Given the description of an element on the screen output the (x, y) to click on. 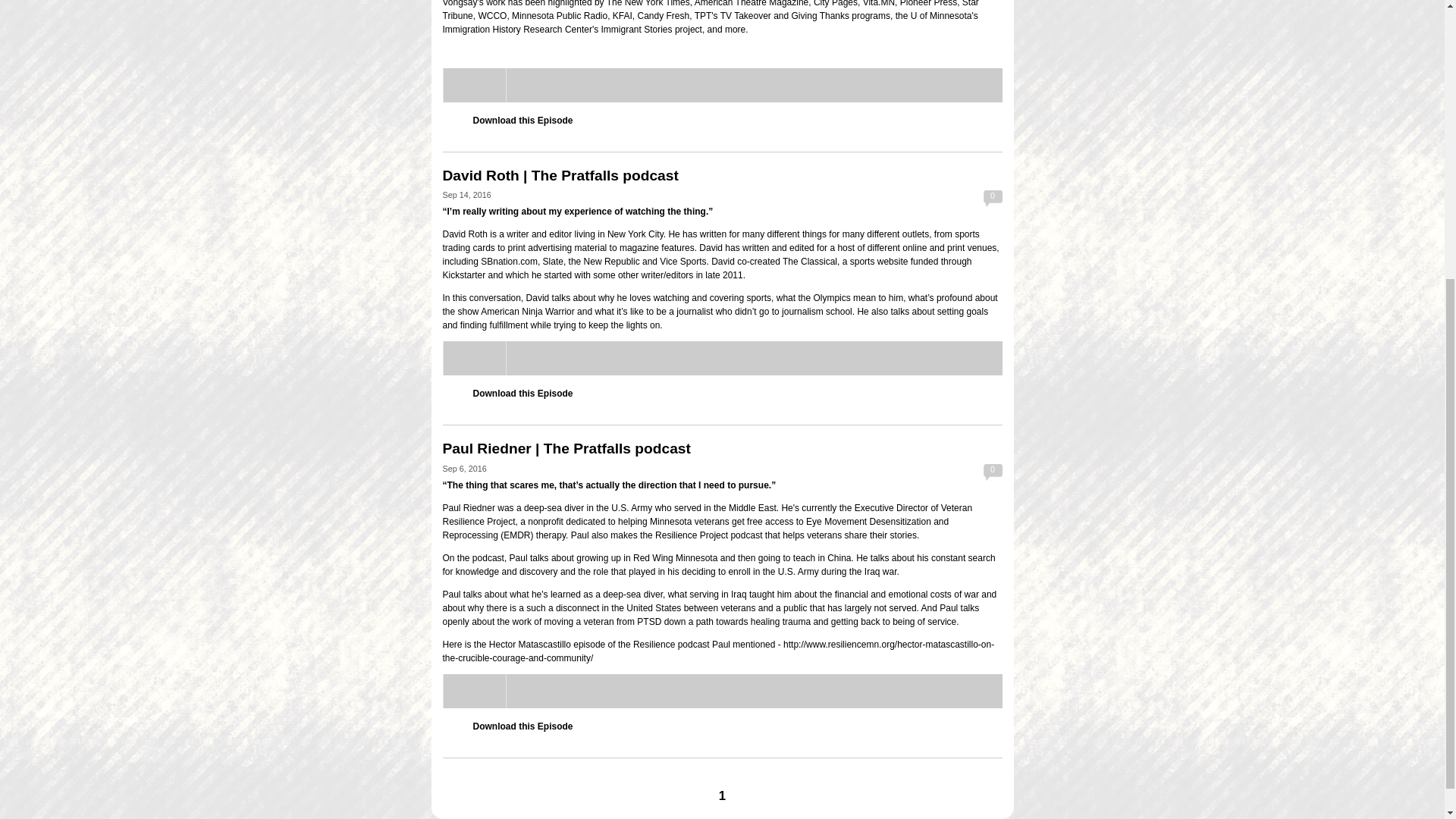
David Roth (464, 234)
Libsyn Player (722, 358)
0 (991, 198)
Libsyn Player (722, 84)
Vice Sports (682, 261)
Libsyn Player (722, 691)
The Classical (810, 261)
Download this Episode (523, 120)
